Given the description of an element on the screen output the (x, y) to click on. 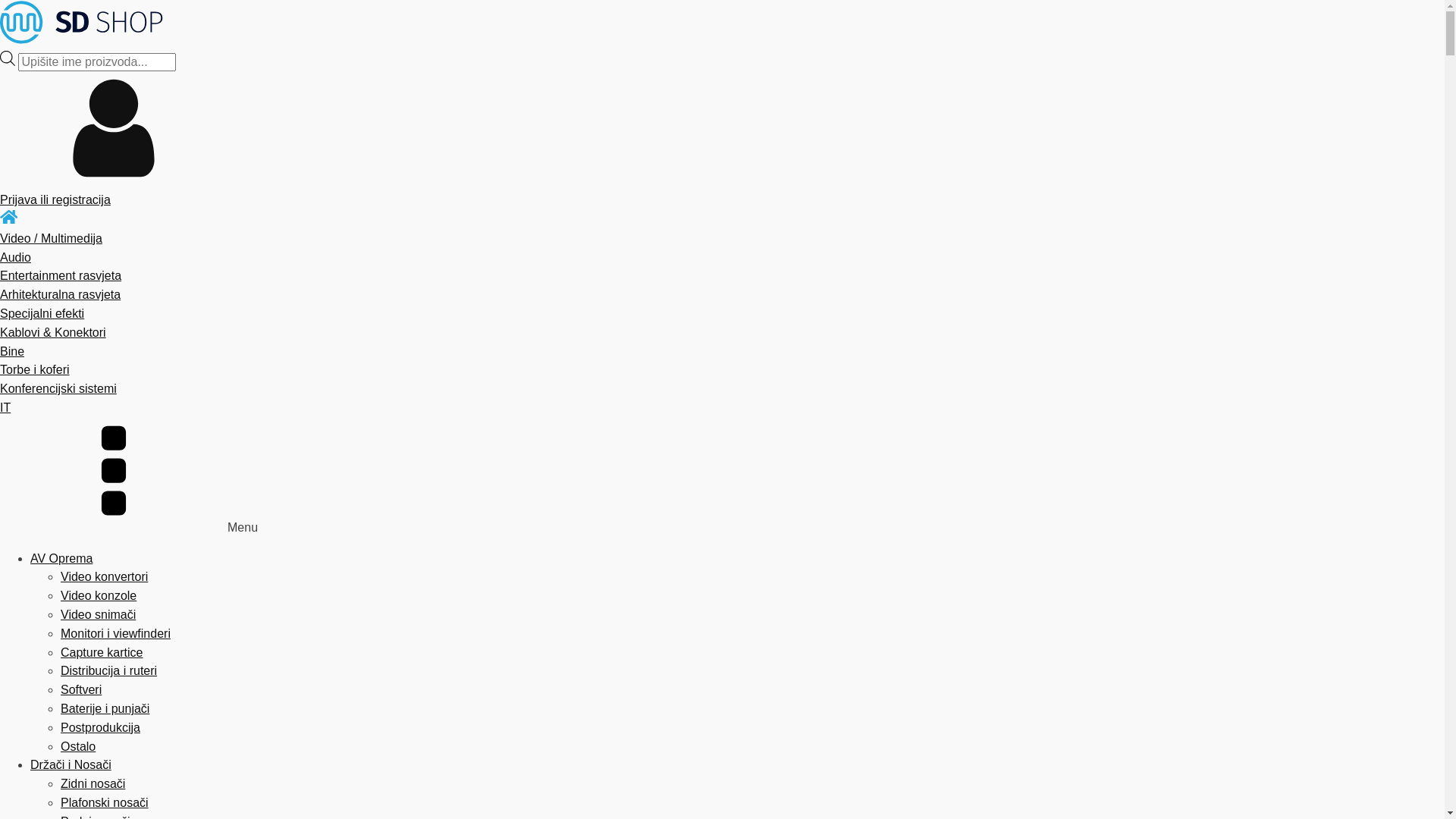
Entertainment rasvjeta Element type: text (722, 275)
Monitori i viewfinderi Element type: text (115, 633)
Bine Element type: text (722, 351)
Capture kartice Element type: text (101, 652)
Video konzole Element type: text (98, 595)
IT Element type: text (722, 407)
Video konvertori Element type: text (103, 576)
Kablovi & Konektori Element type: text (722, 332)
Audio Element type: text (722, 257)
Ostalo Element type: text (77, 746)
Arhitekturalna rasvjeta Element type: text (722, 294)
AV Oprema Element type: text (61, 558)
Specijalni efekti Element type: text (722, 313)
Konferencijski sistemi Element type: text (722, 388)
Softveri Element type: text (80, 689)
Prijava ili registracija Element type: text (722, 192)
Distribucija i ruteri Element type: text (108, 670)
Torbe i koferi Element type: text (722, 369)
Video / Multimedija Element type: text (722, 238)
Postprodukcija Element type: text (100, 727)
